Given the description of an element on the screen output the (x, y) to click on. 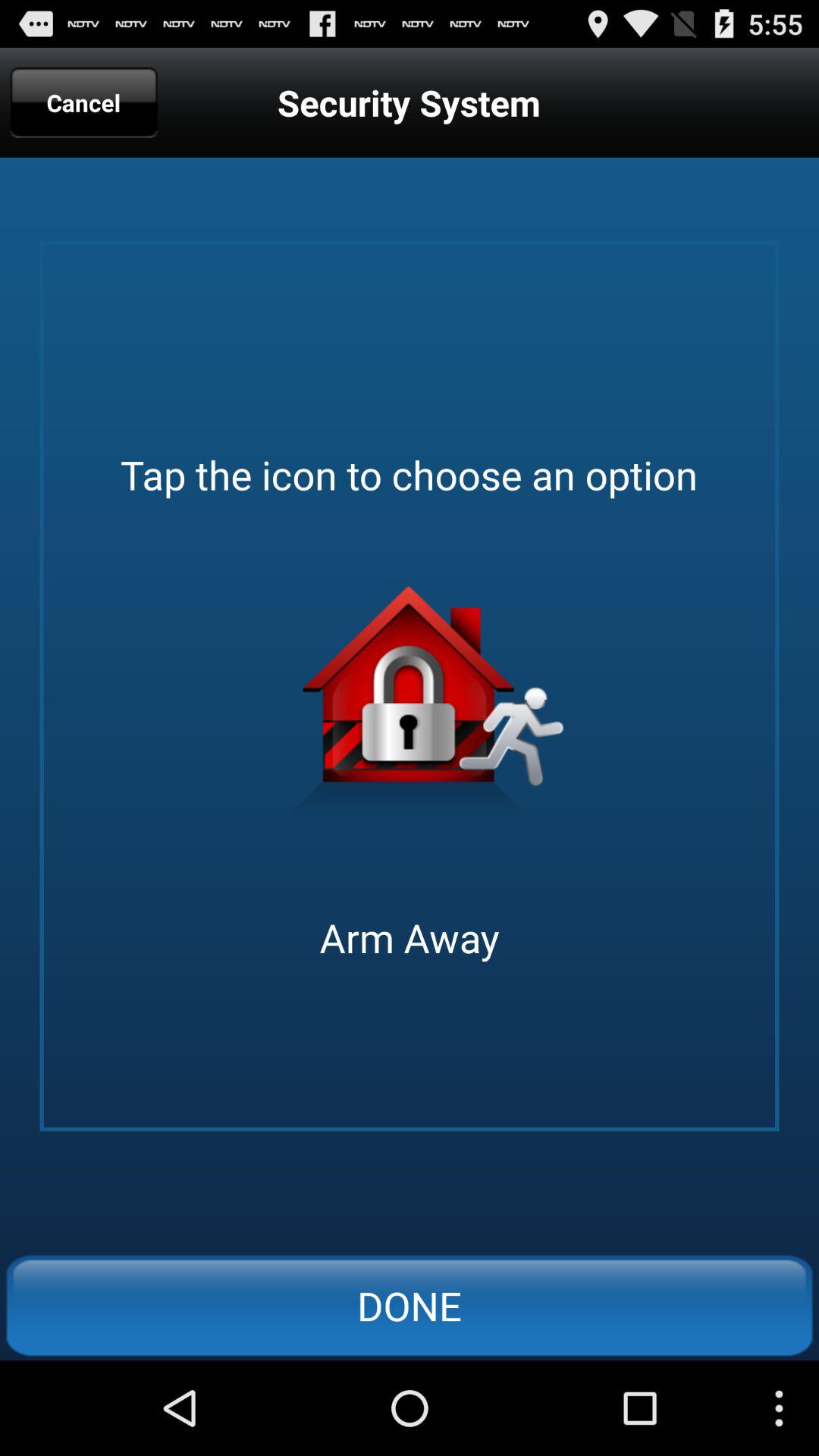
go to options (409, 707)
